Given the description of an element on the screen output the (x, y) to click on. 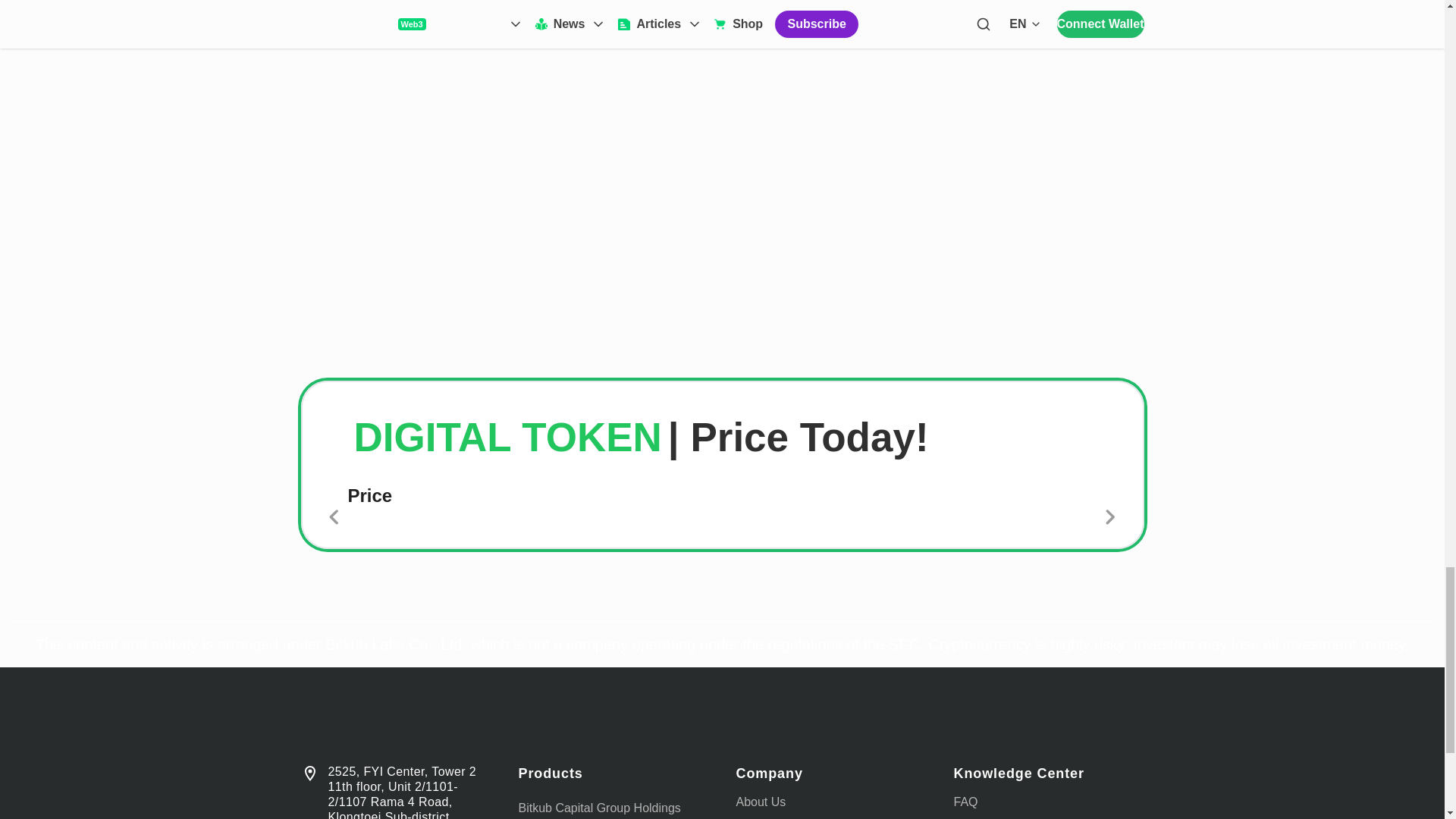
FAQ (965, 801)
About Us (760, 801)
Bitkub Capital Group Holdings (599, 807)
